Given the description of an element on the screen output the (x, y) to click on. 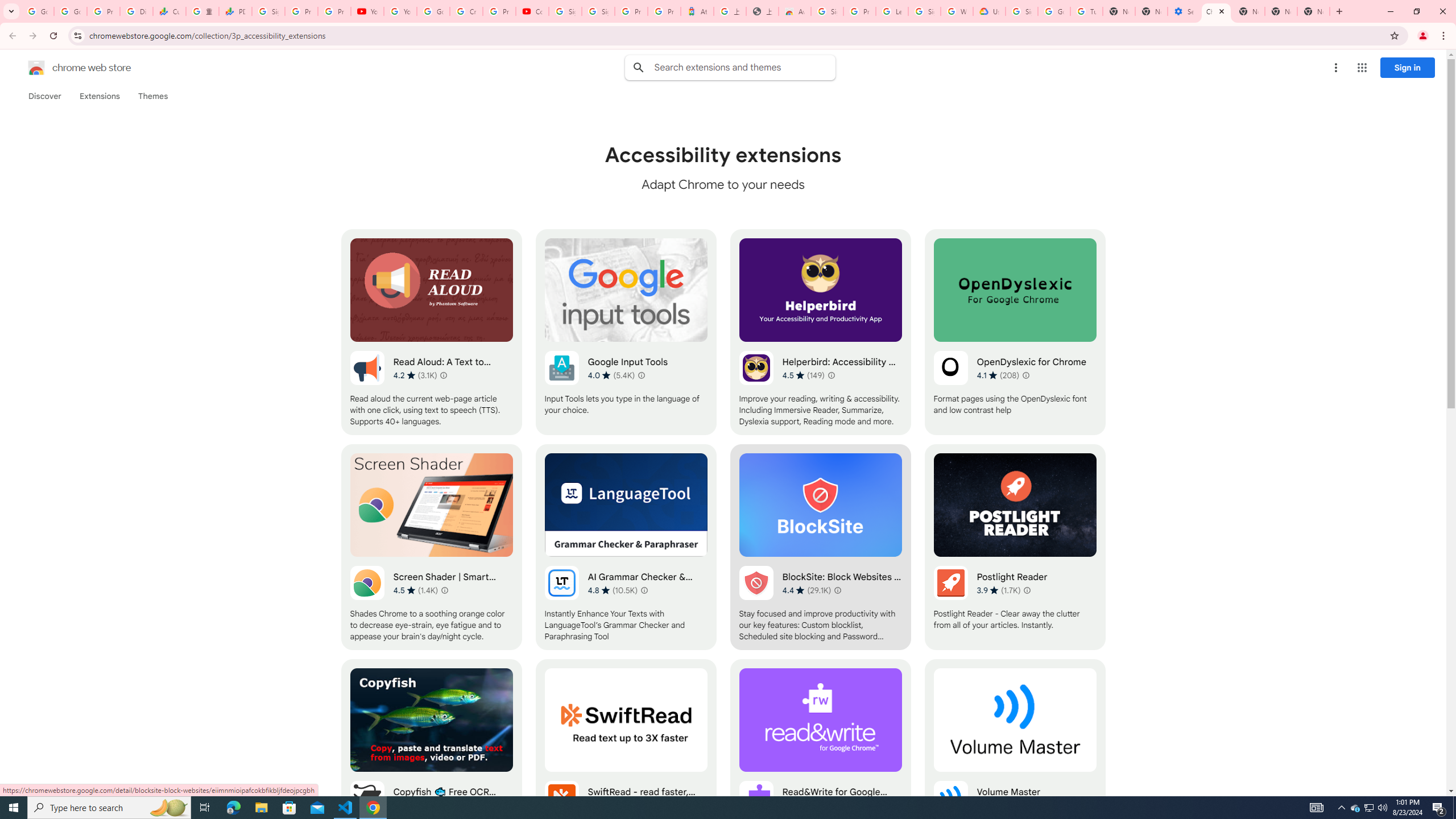
Chrome Web Store logo chrome web store (67, 67)
Average rating 4.1 out of 5 stars. 208 ratings. (997, 375)
Sign in - Google Accounts (827, 11)
Learn more about results and reviews "Postlight Reader" (1026, 590)
BlockSite: Block Websites & Stay Focused (820, 546)
More options menu (1335, 67)
Read Aloud: A Text to Speech Voice Reader (431, 331)
